Given the description of an element on the screen output the (x, y) to click on. 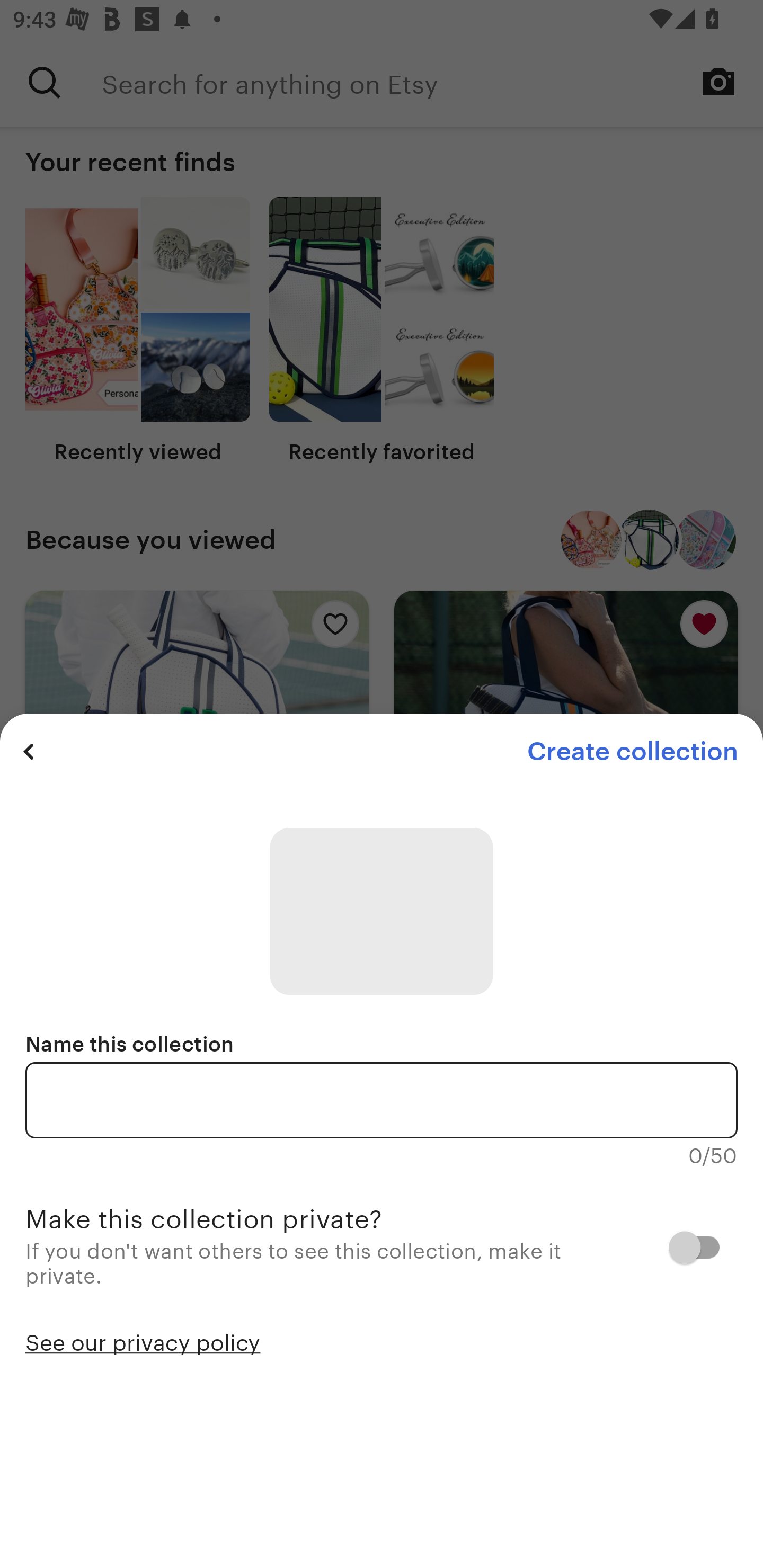
Previous (28, 751)
Create collection (632, 751)
See our privacy policy (142, 1341)
